Given the description of an element on the screen output the (x, y) to click on. 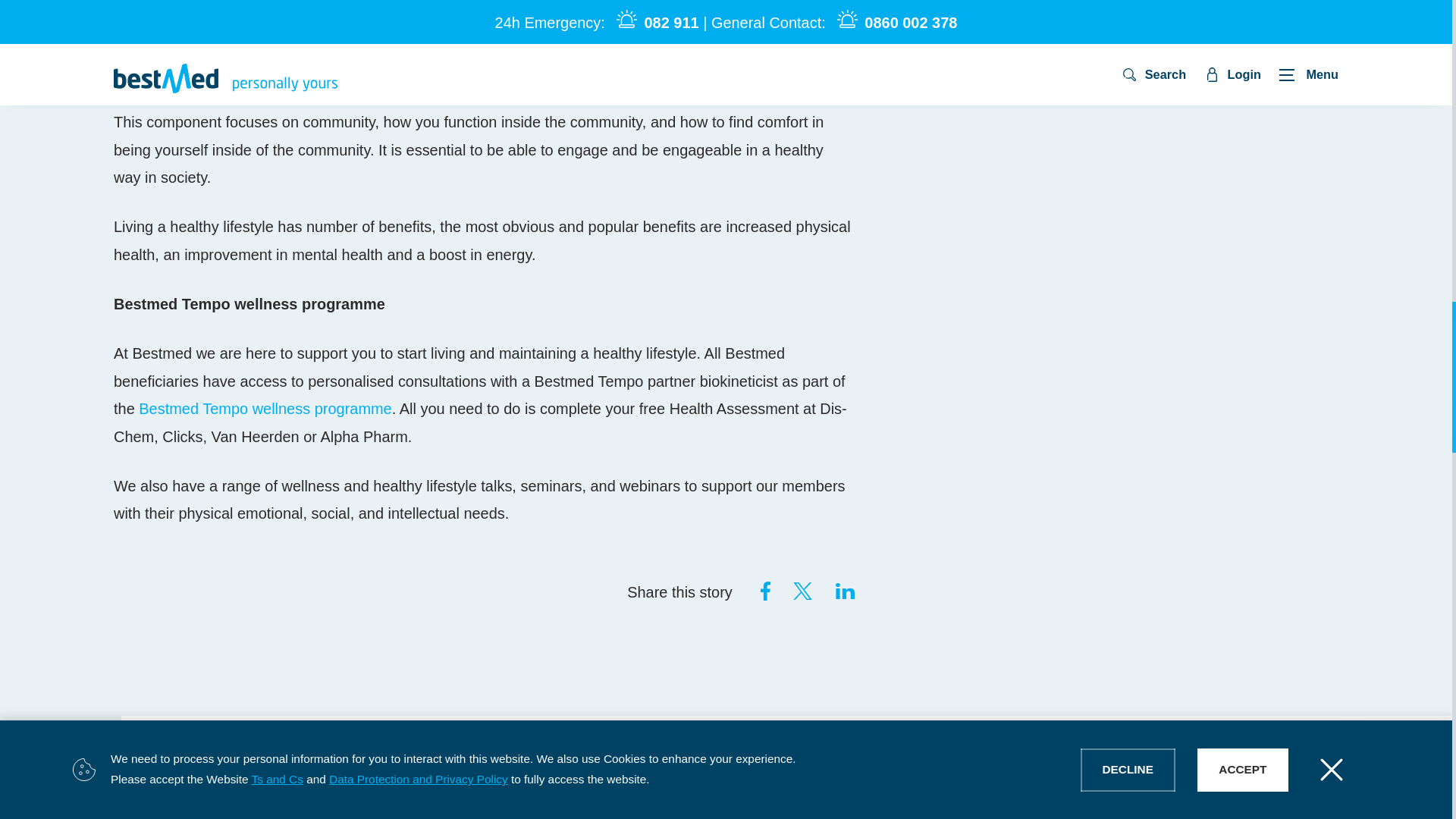
Facebook (760, 590)
LinkedIn (844, 590)
Twitter (802, 590)
